Given the description of an element on the screen output the (x, y) to click on. 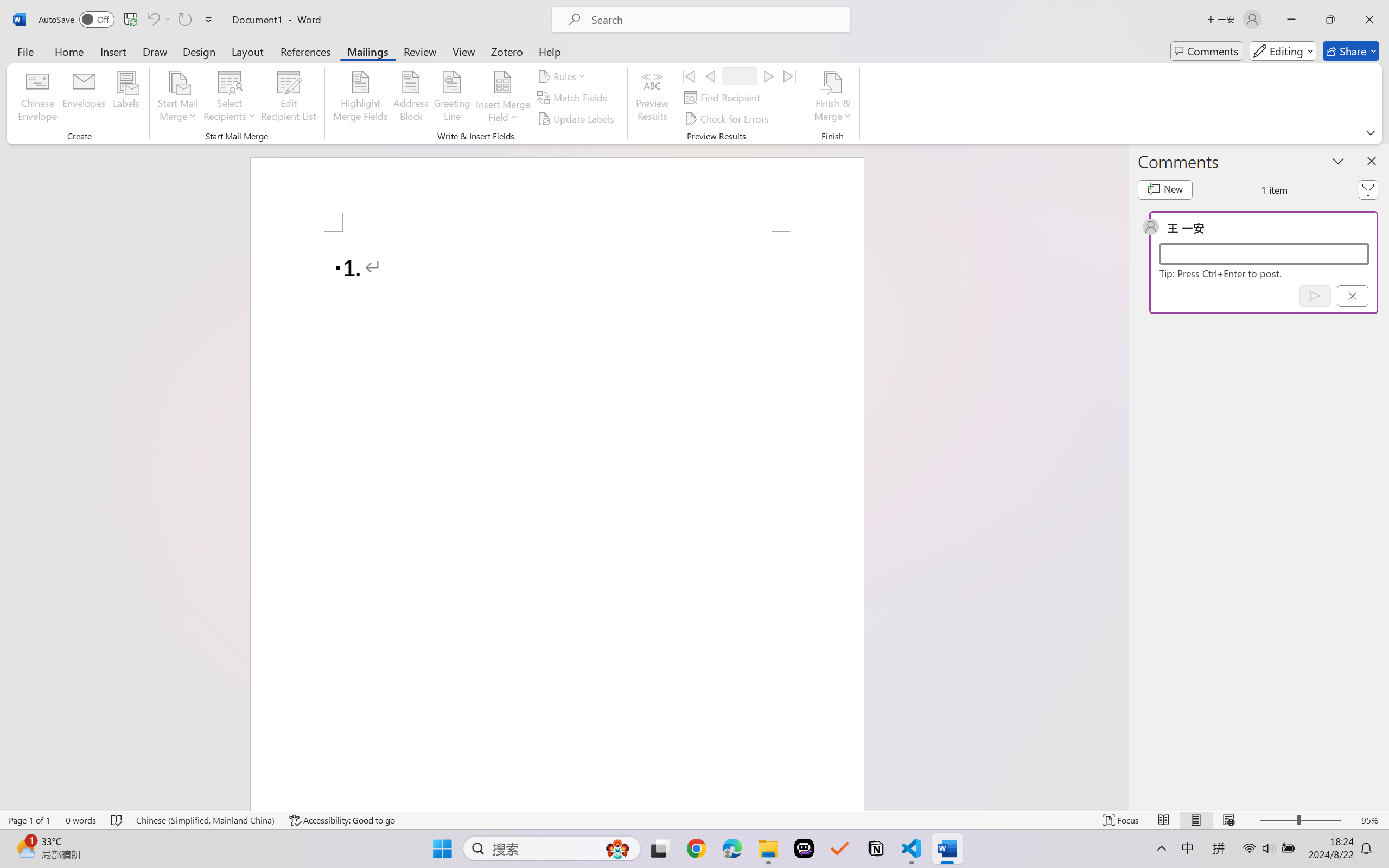
Post comment (Ctrl + Enter) (1315, 295)
First (688, 75)
Check for Errors... (728, 118)
